Given the description of an element on the screen output the (x, y) to click on. 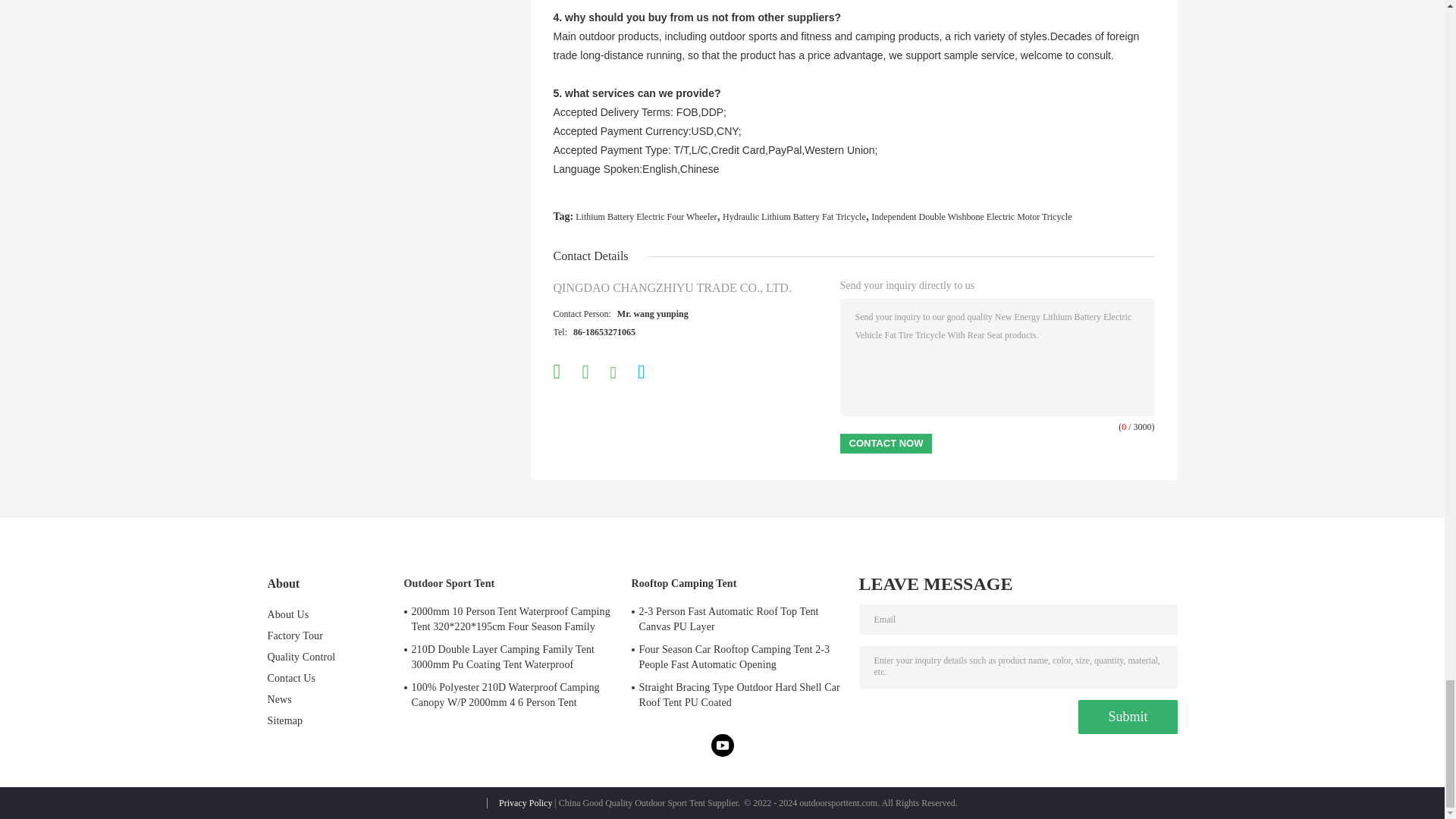
Contact Now (886, 443)
Submit (1127, 716)
